Given the description of an element on the screen output the (x, y) to click on. 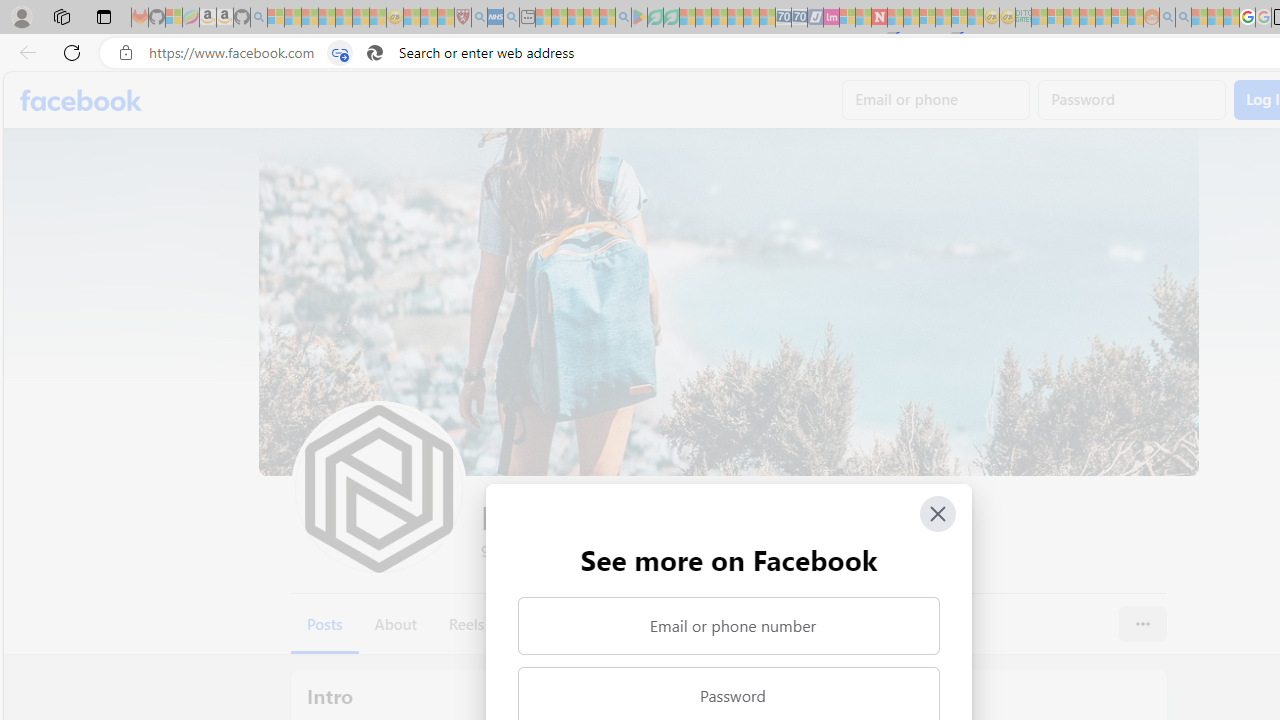
DITOGAMES AG Imprint - Sleeping (1023, 17)
Search icon (374, 53)
Bluey: Let's Play! - Apps on Google Play - Sleeping (639, 17)
